Given the description of an element on the screen output the (x, y) to click on. 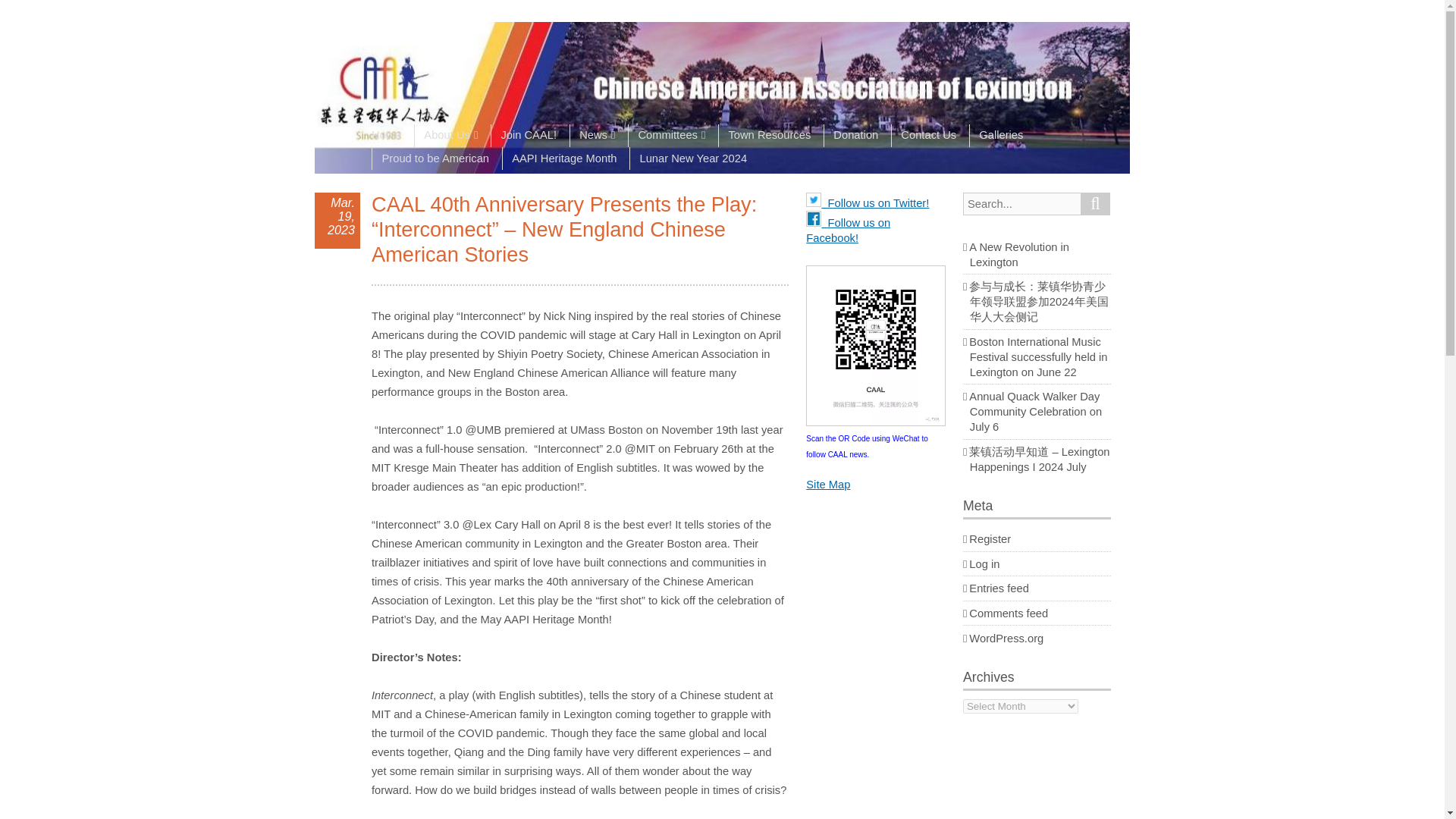
Search (1094, 203)
Committees (670, 135)
Lunar New Year 2024 (692, 158)
News (596, 135)
  Follow us on Facebook! (847, 230)
A New Revolution in Lexington (1018, 254)
Proud to be American (435, 158)
Galleries (1000, 135)
Home (390, 135)
Contact Us (928, 135)
AAPI Heritage Month (564, 158)
About Us (450, 135)
  Follow us on Twitter! (867, 203)
Town Resources (769, 135)
Join CAAL! (528, 135)
